Given the description of an element on the screen output the (x, y) to click on. 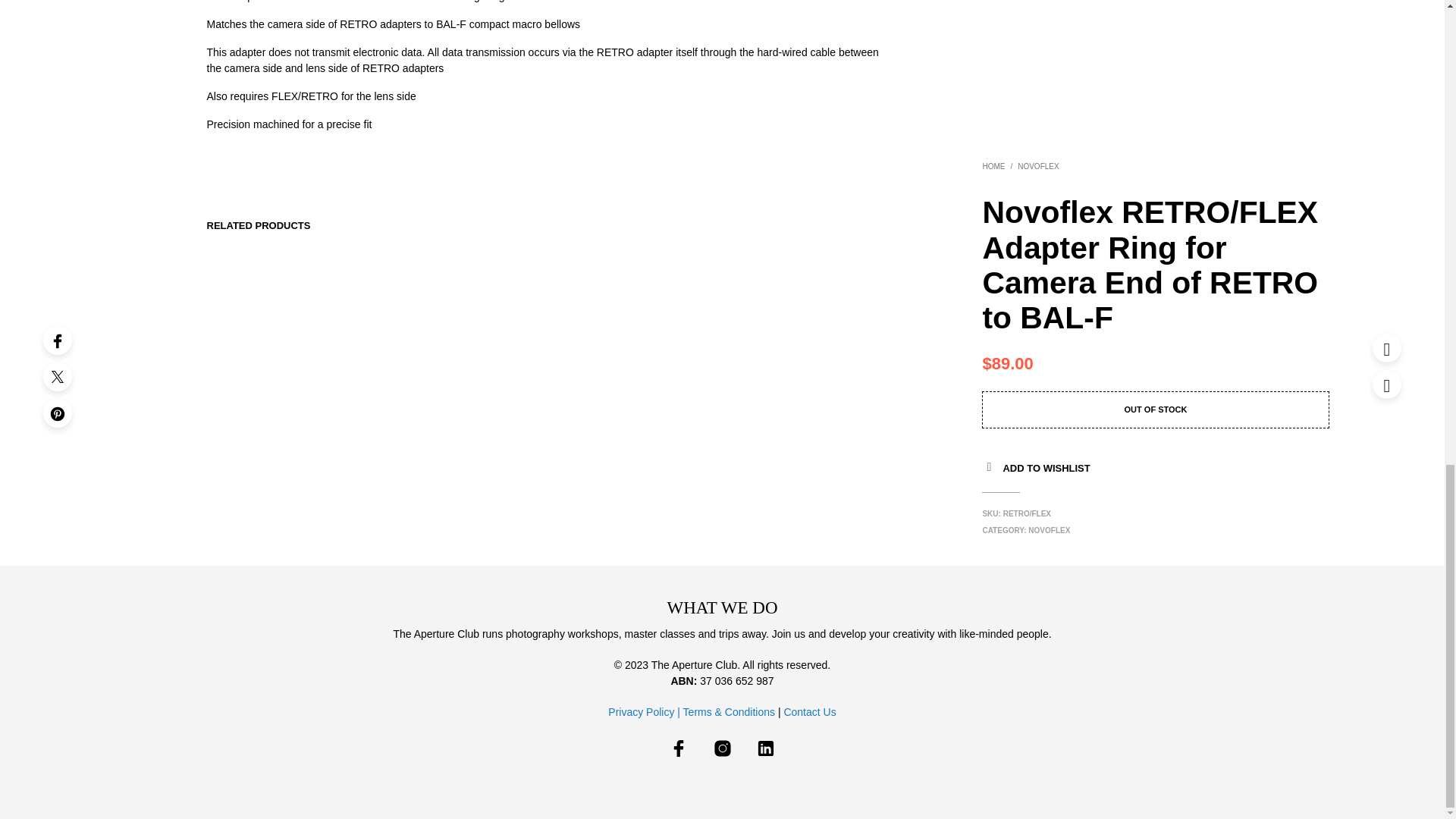
The Aperture Club Facebook (678, 748)
The Aperture Club Instagram (721, 748)
The Aperture Club LinkedIn (765, 748)
